Given the description of an element on the screen output the (x, y) to click on. 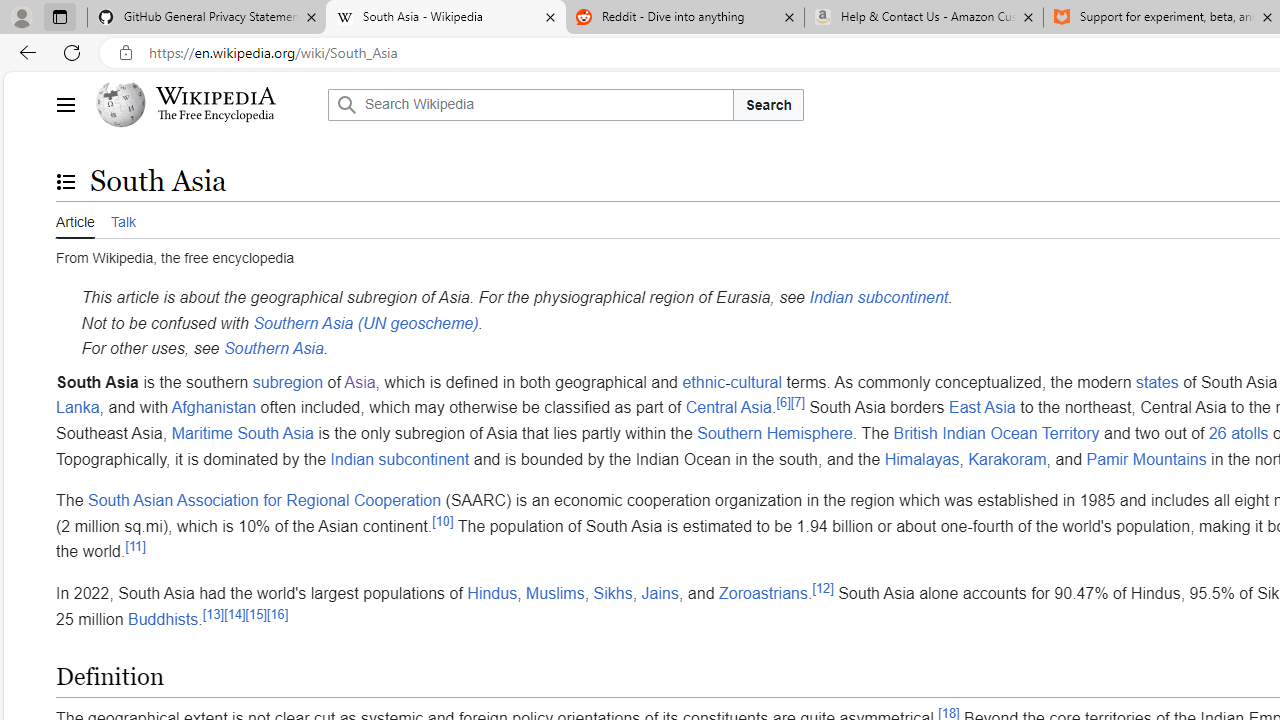
[6] (783, 403)
[14] (234, 614)
Help & Contact Us - Amazon Customer Service - Sleeping (924, 17)
South Asia - Wikipedia (445, 17)
Muslims (555, 592)
[12] (822, 588)
Indian subcontinent (399, 459)
Search Wikipedia (530, 104)
Asia (360, 381)
[15] (255, 614)
Jains (659, 592)
states (1157, 381)
Himalayas (922, 459)
The Free Encyclopedia (216, 116)
